Given the description of an element on the screen output the (x, y) to click on. 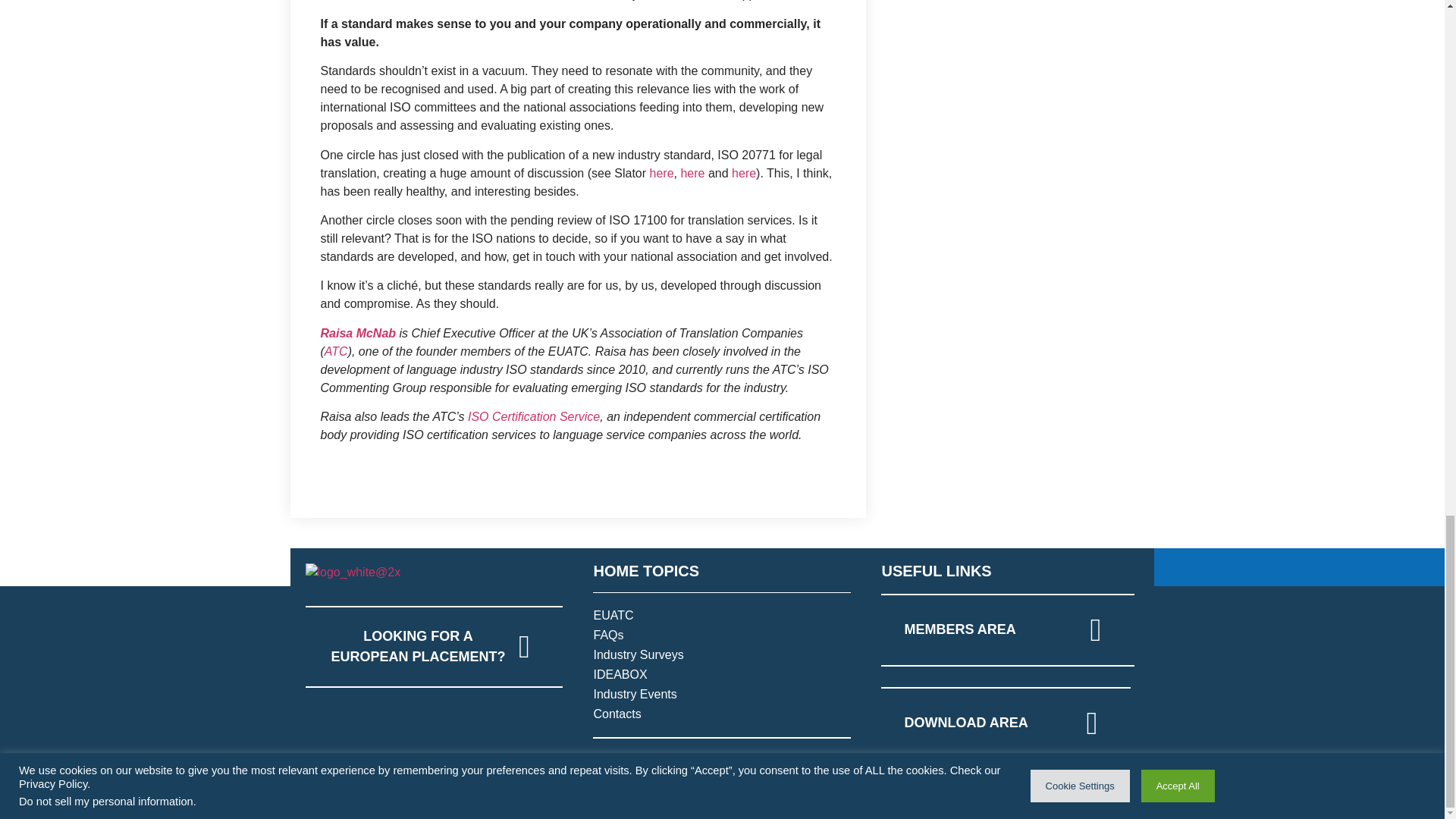
ATC (335, 350)
EUATC (721, 615)
Raisa McNab (358, 332)
ISO Certification Service (533, 416)
LOOKING FOR A EUROPEAN PLACEMENT? (433, 646)
here (691, 173)
here (743, 173)
here (661, 173)
